Given the description of an element on the screen output the (x, y) to click on. 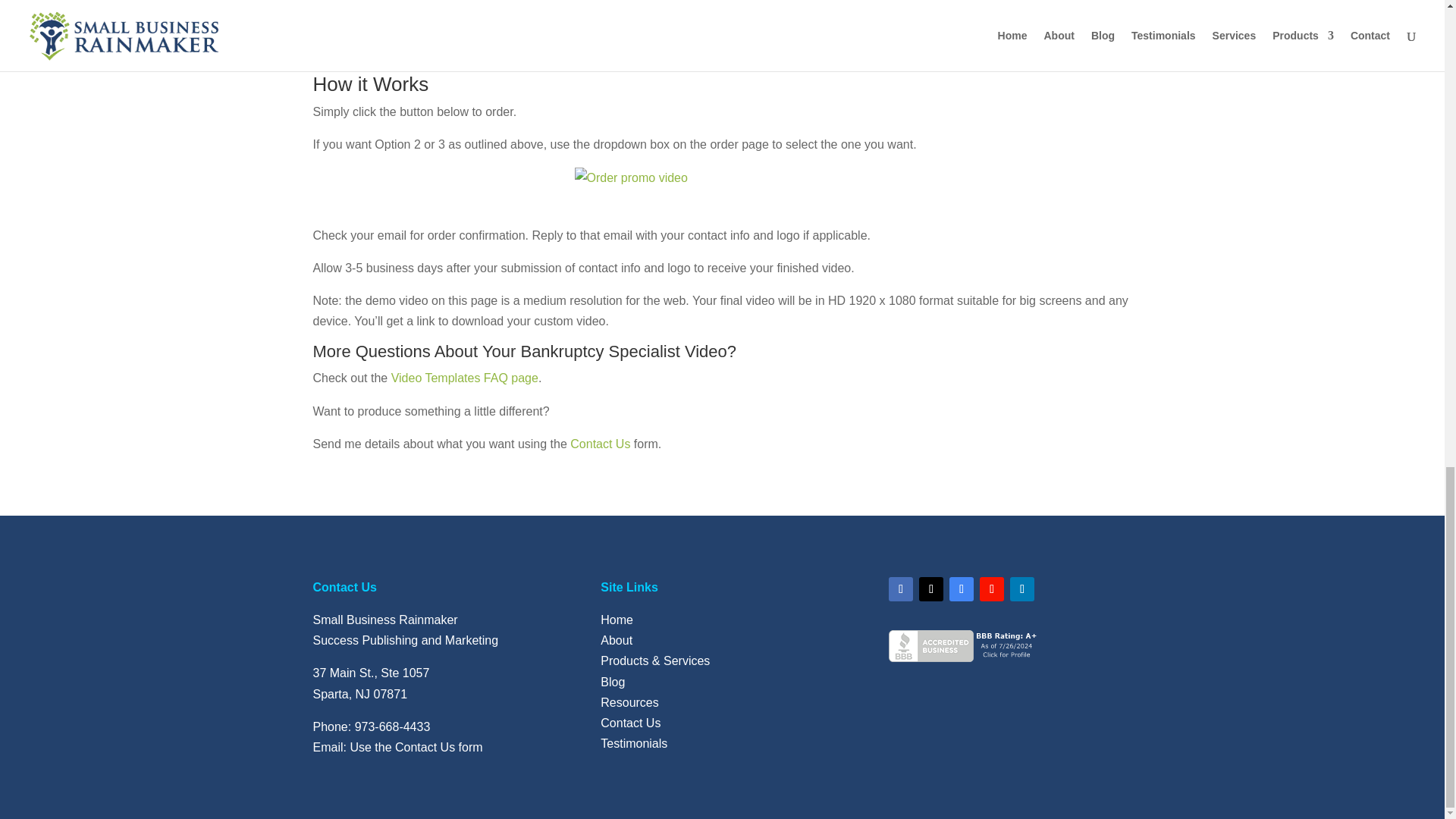
Contact Us (424, 747)
Follow on LinkedIn (1021, 589)
Follow on Facebook (900, 589)
Follow on Google (961, 589)
Follow on X (930, 589)
Video Templates FAQ page (464, 377)
Contact Us (600, 443)
See examples of custom backgrounds here (459, 51)
Follow on Youtube (991, 589)
